Given the description of an element on the screen output the (x, y) to click on. 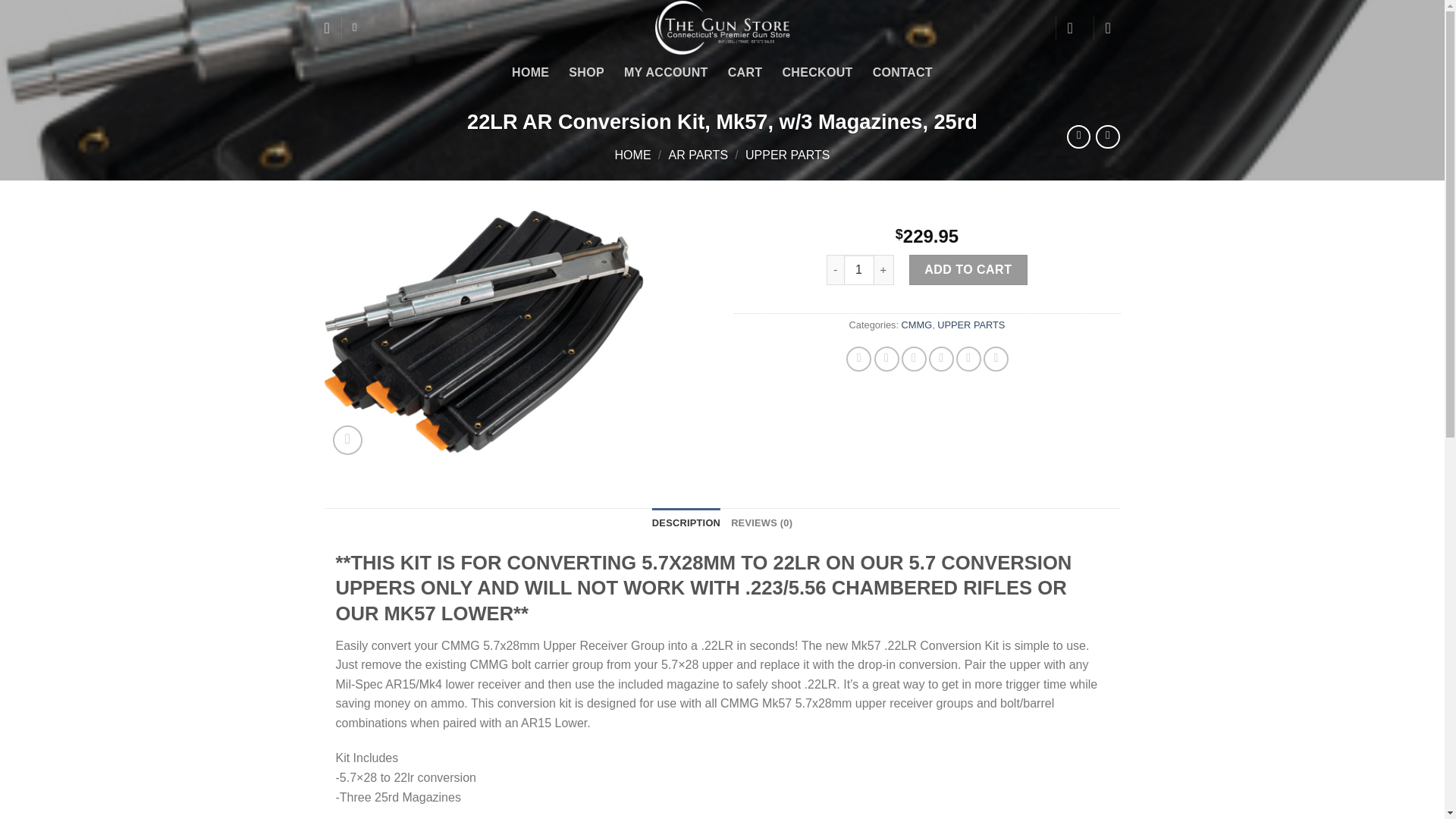
ADD TO CART (967, 269)
1 (859, 269)
MY ACCOUNT (665, 72)
HOME (530, 72)
AR PARTS (698, 154)
UPPER PARTS (970, 324)
Qty (859, 269)
CONTACT (902, 72)
CMMG (917, 324)
UPPER PARTS (787, 154)
